Given the description of an element on the screen output the (x, y) to click on. 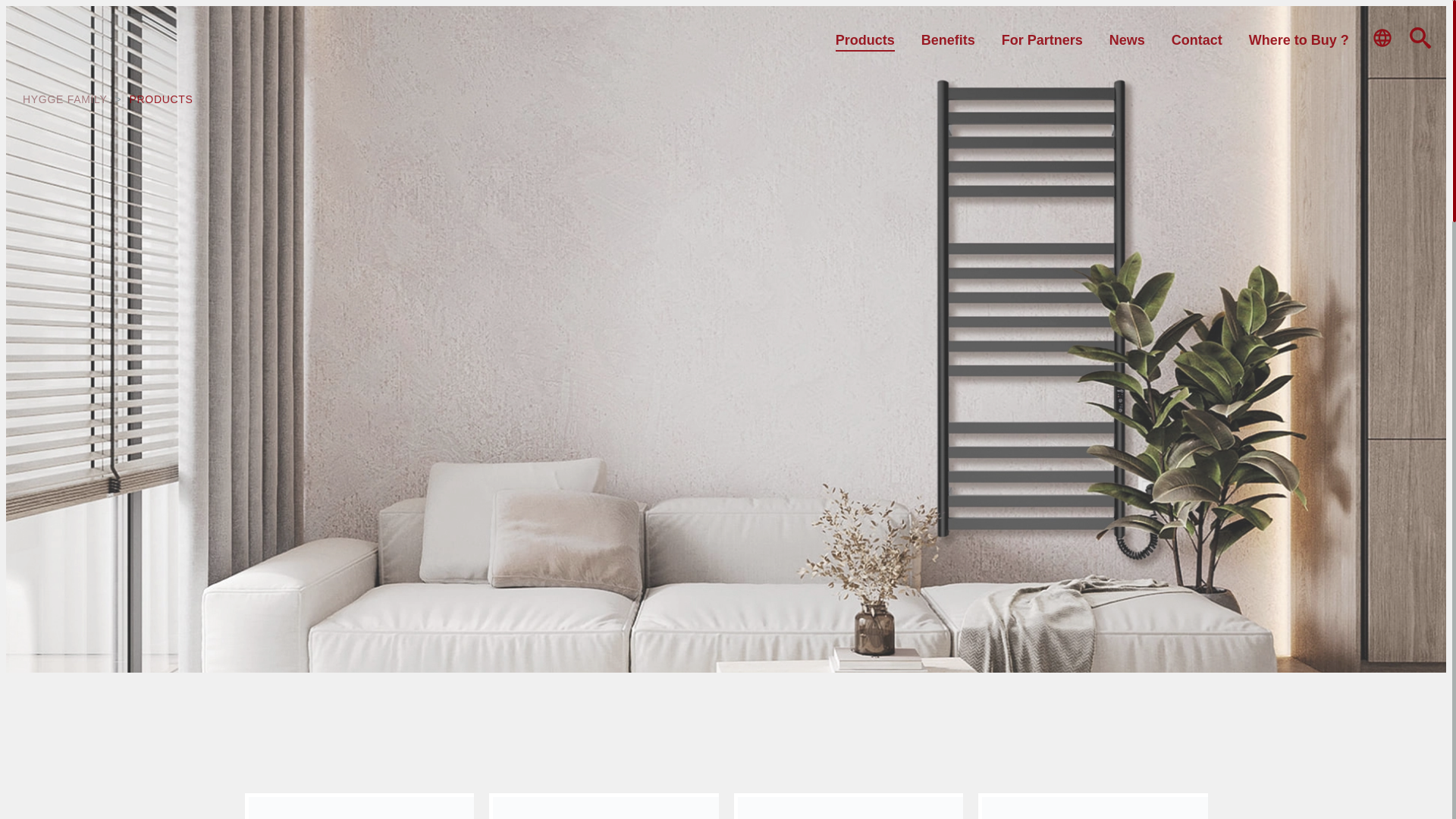
For Partners (1042, 40)
News (1126, 40)
Hygge Family (65, 99)
Products (865, 40)
Benefits (948, 40)
HYGGE FAMILY (65, 99)
Where to Buy ? (1299, 40)
